Given the description of an element on the screen output the (x, y) to click on. 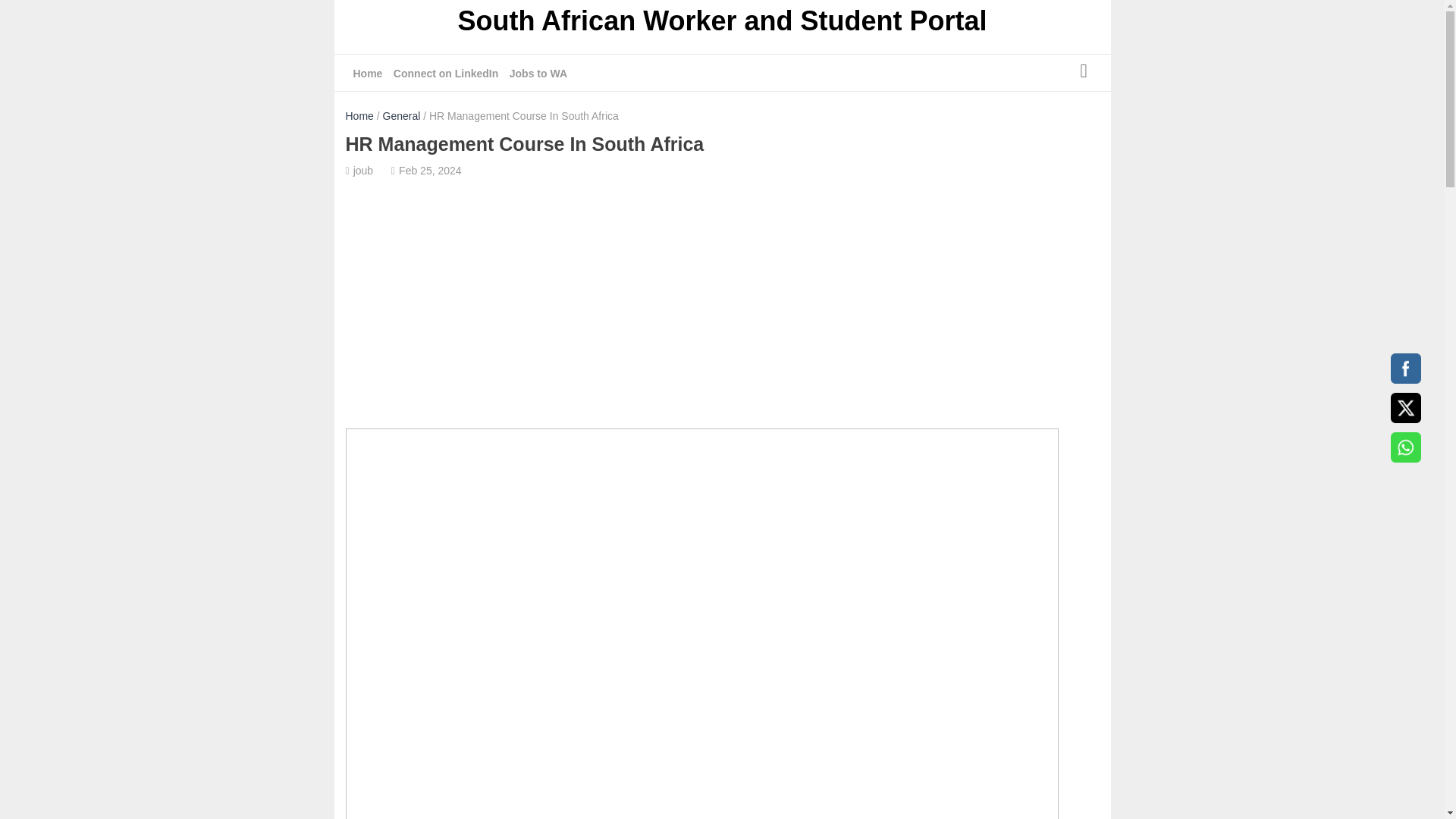
Connect on LinkedIn (445, 73)
General (401, 115)
South African Worker and Student Portal (721, 22)
Jobs to WA (538, 73)
Facebook (1405, 368)
WhatsApp (1405, 447)
Home (360, 115)
Twitter (1405, 408)
